Given the description of an element on the screen output the (x, y) to click on. 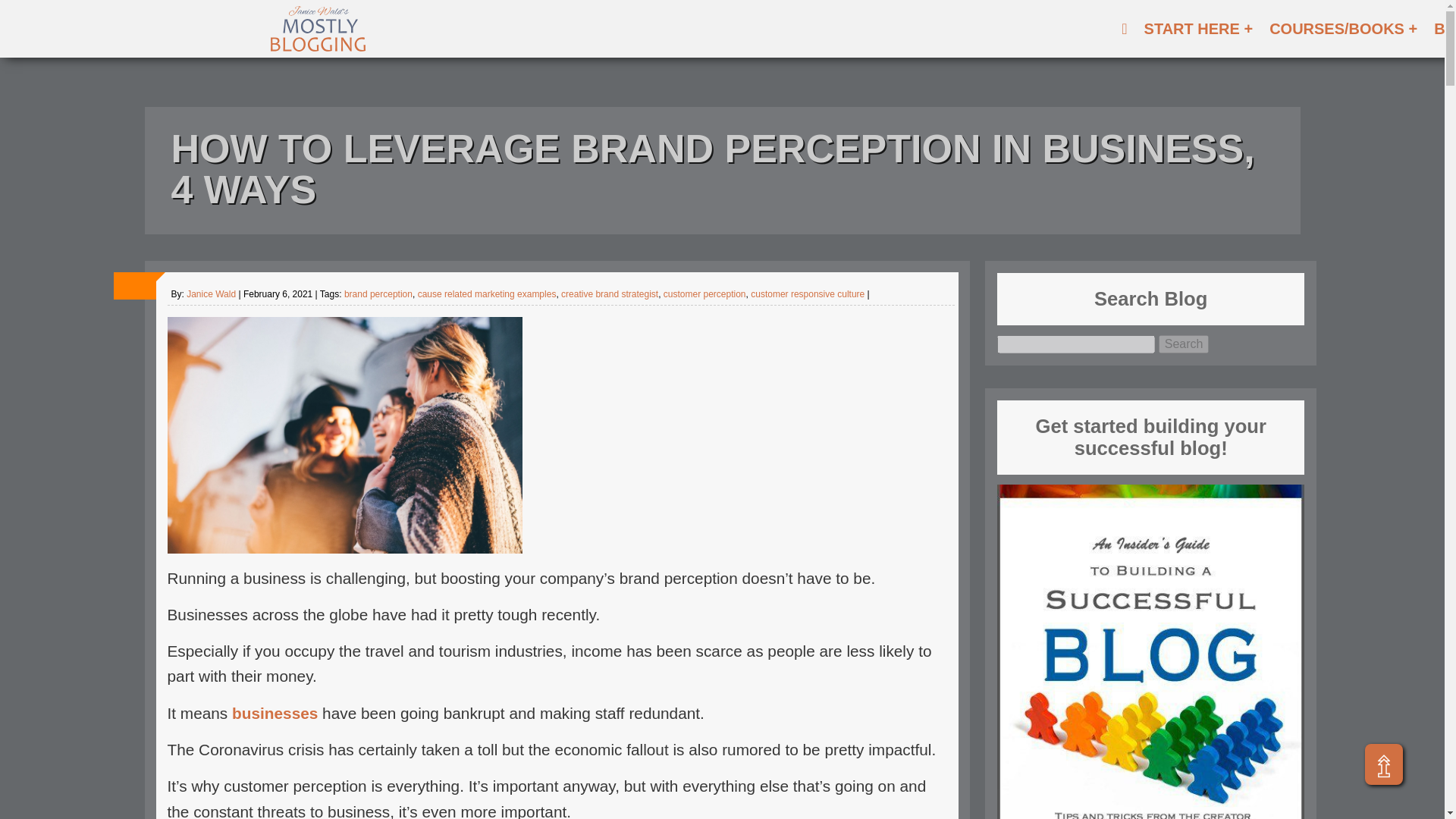
Posts by Janice Wald (210, 294)
BLOG (1442, 28)
Search (1183, 343)
